Given the description of an element on the screen output the (x, y) to click on. 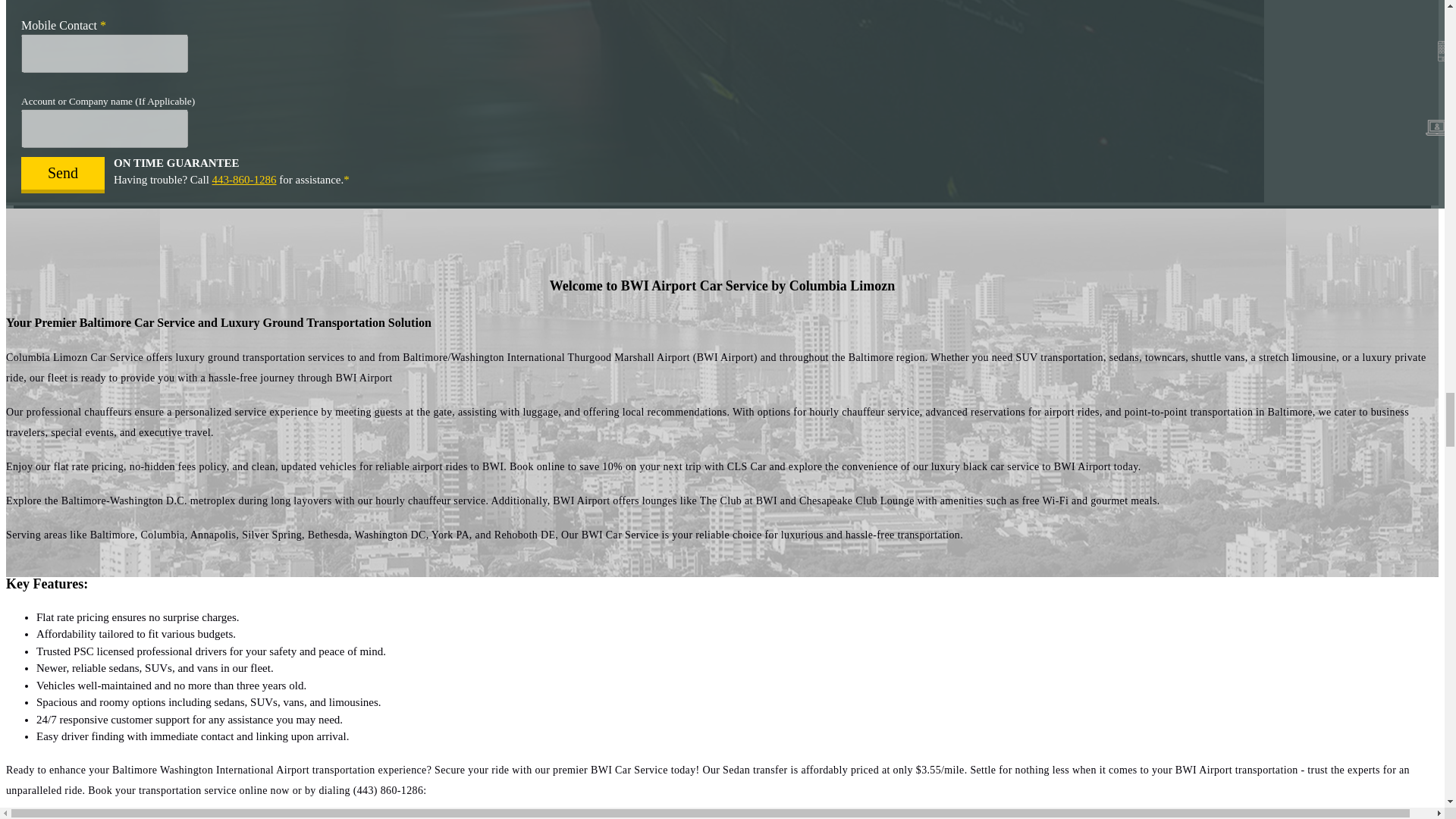
443-860-1286 (244, 179)
Send (62, 175)
